Given the description of an element on the screen output the (x, y) to click on. 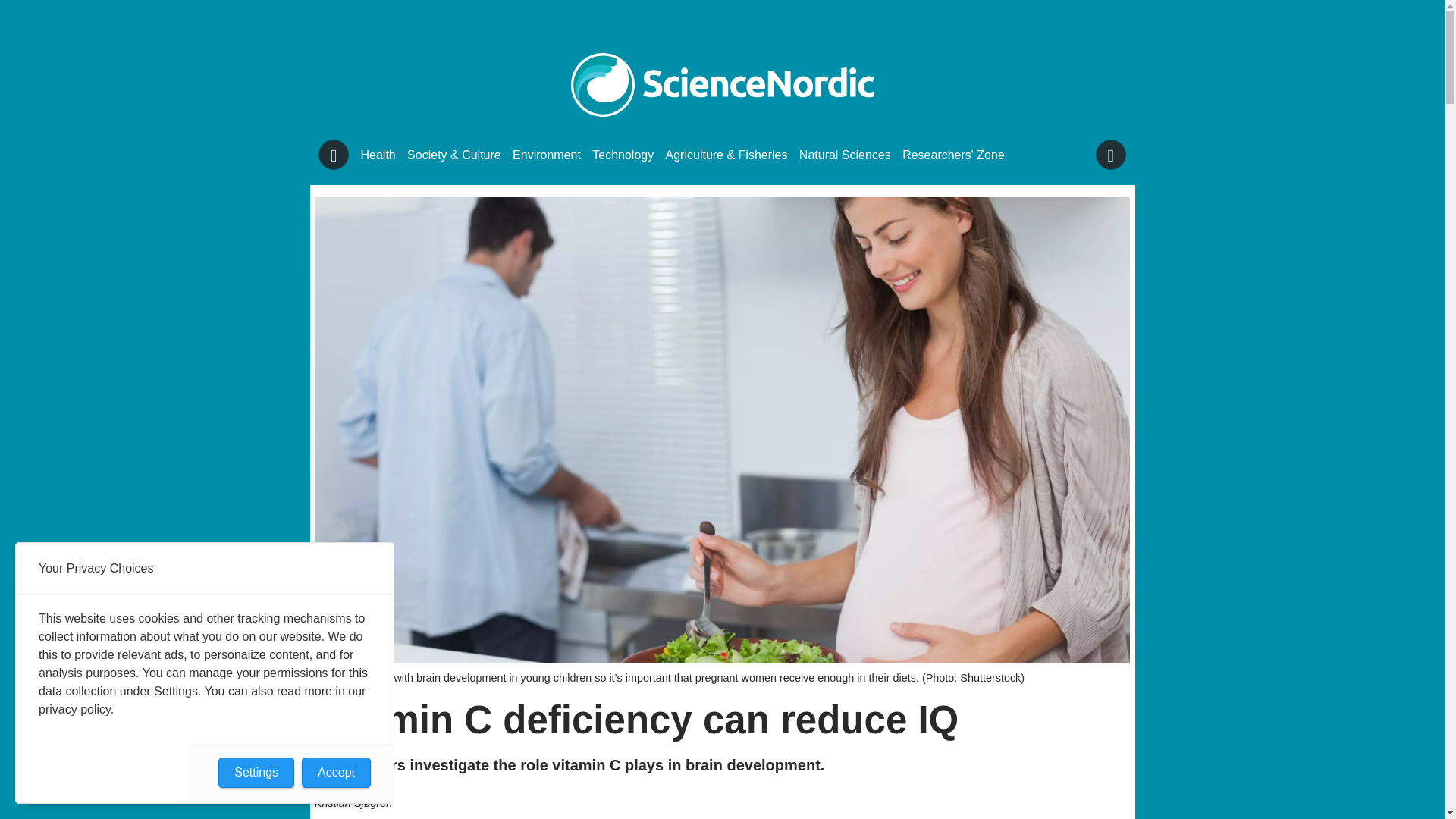
Environment (546, 154)
Researchers' Zone (953, 154)
Health (378, 154)
Technology (622, 154)
Natural Sciences (845, 154)
